Given the description of an element on the screen output the (x, y) to click on. 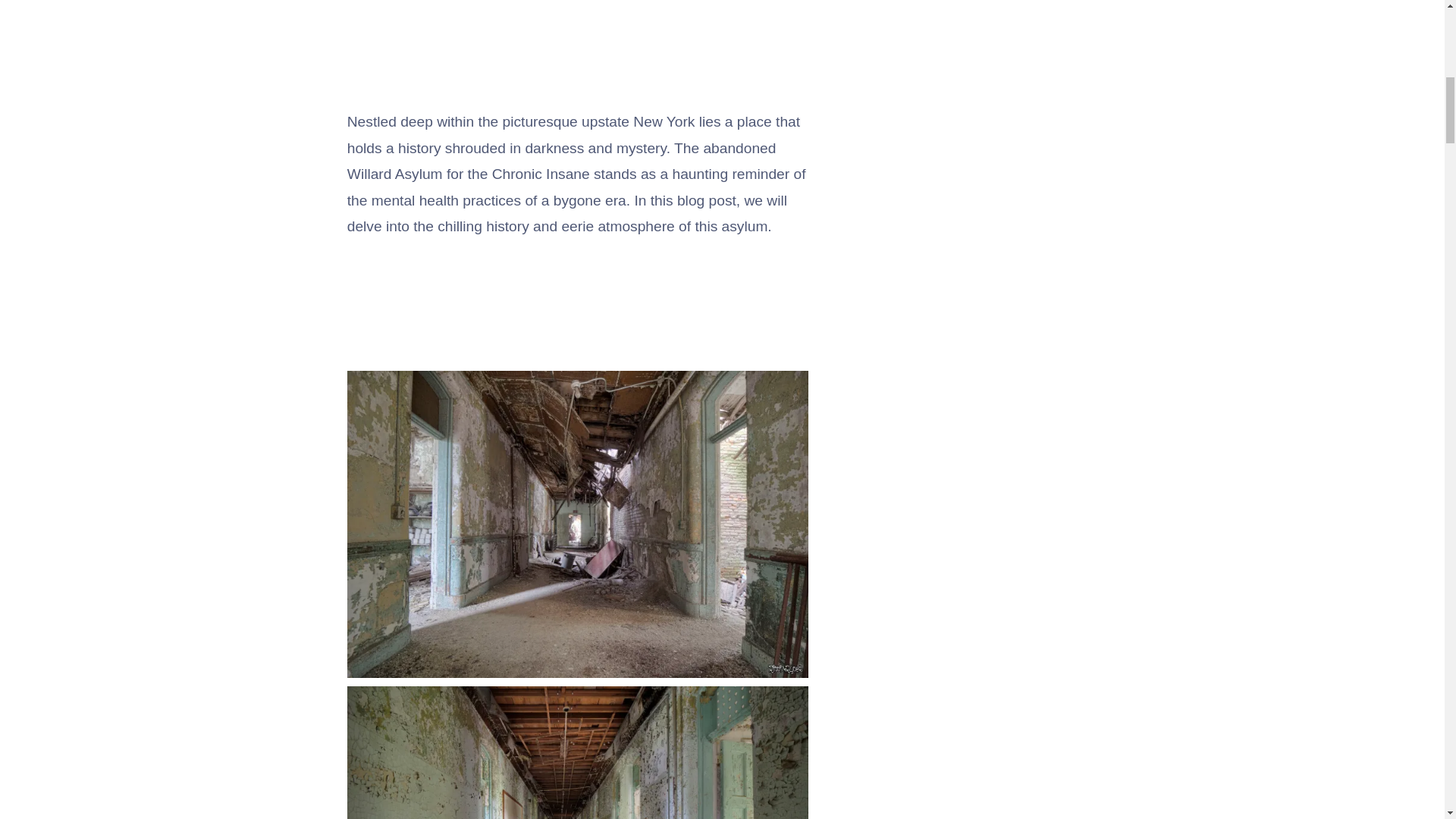
Willard Asylum for the Chronic Insane (577, 752)
YouTube video player (559, 27)
